Given the description of an element on the screen output the (x, y) to click on. 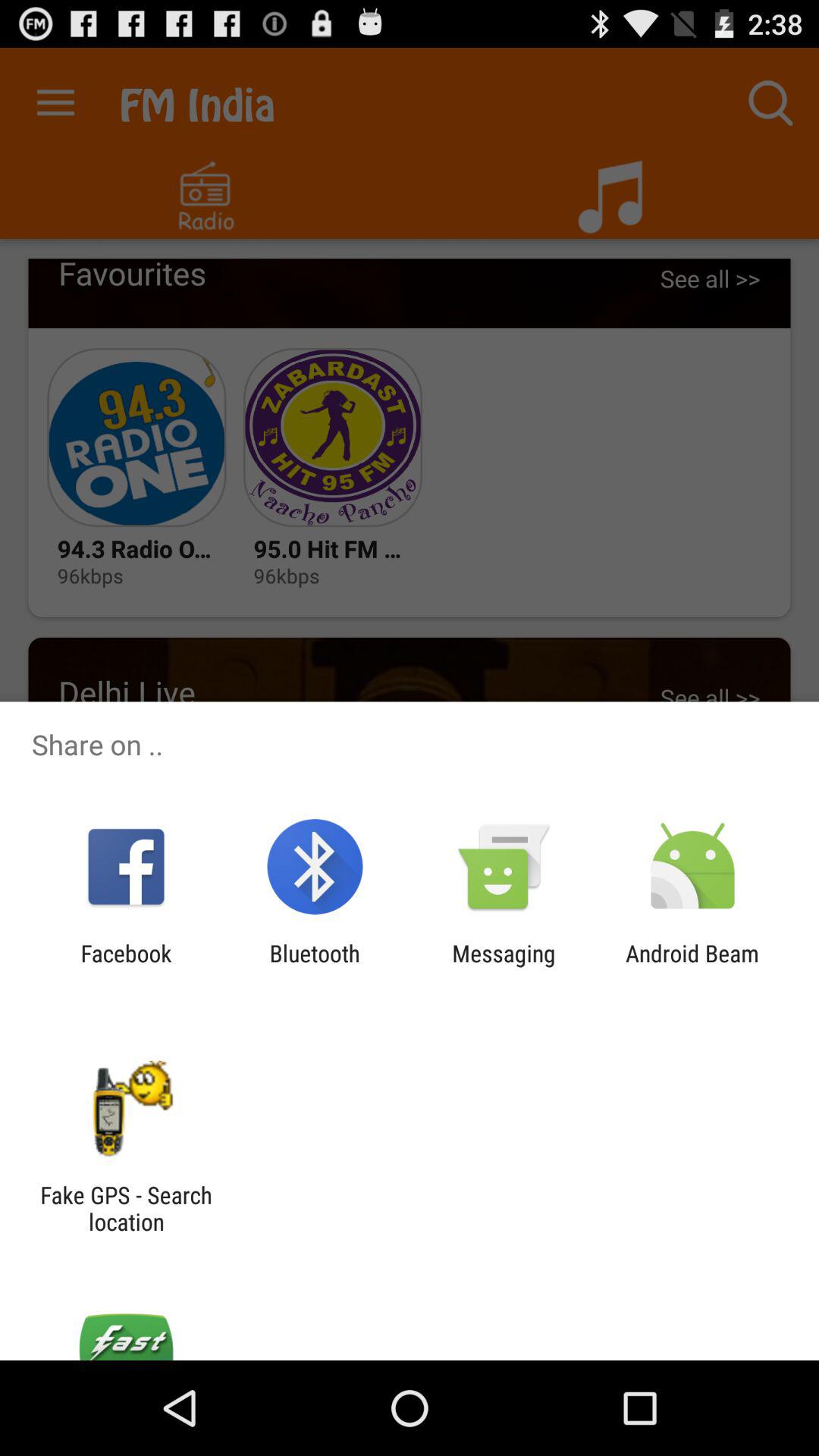
turn off item to the right of the facebook icon (314, 966)
